Given the description of an element on the screen output the (x, y) to click on. 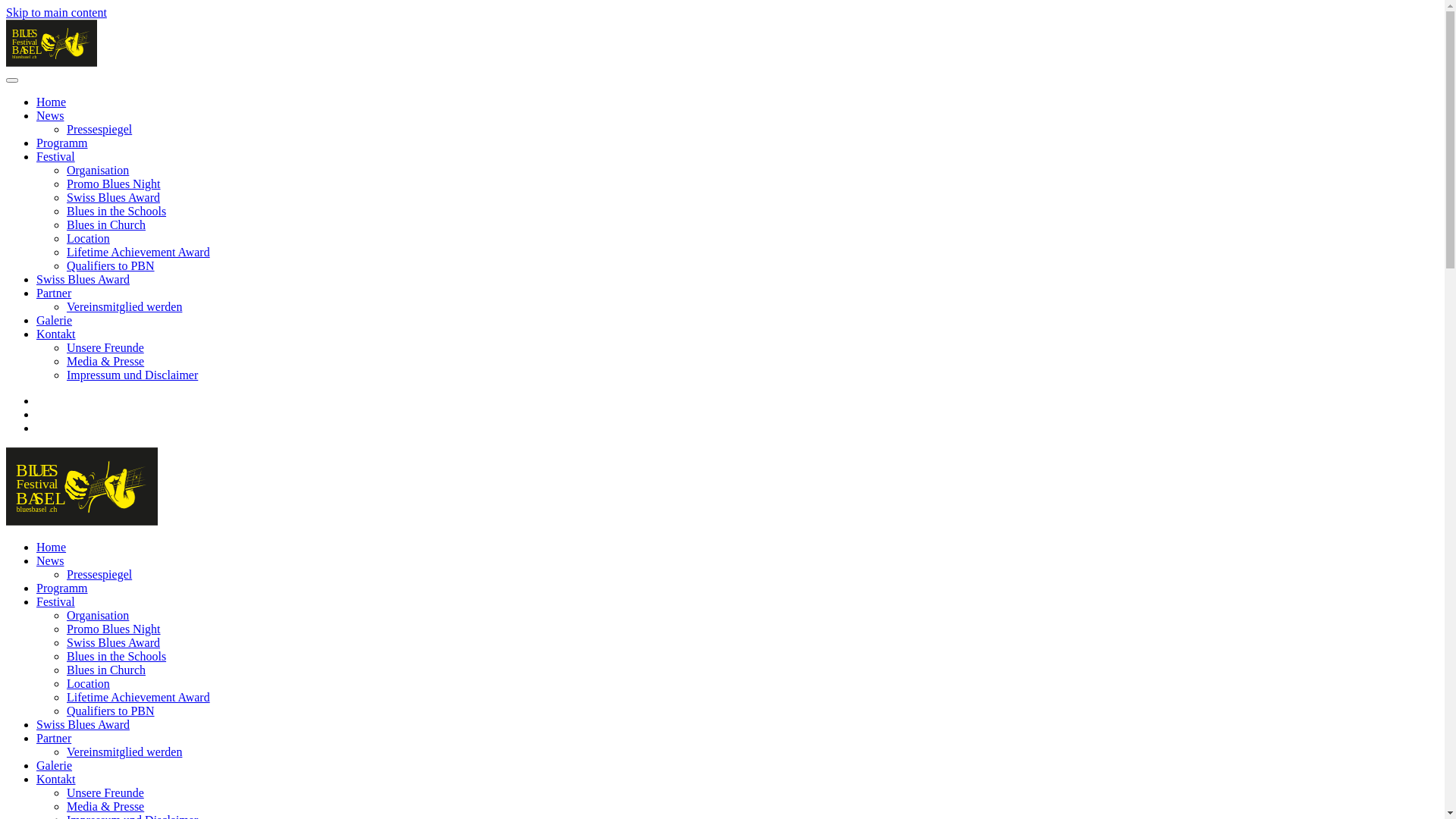
Media & Presse Element type: text (105, 360)
Lifetime Achievement Award Element type: text (138, 696)
Partner Element type: text (53, 737)
Organisation Element type: text (97, 614)
Home Element type: text (50, 546)
News Element type: text (49, 115)
Blues in the Schools Element type: text (116, 655)
Impressum und Disclaimer Element type: text (131, 374)
Home Element type: text (50, 101)
Qualifiers to PBN Element type: text (110, 265)
Organisation Element type: text (97, 169)
Swiss Blues Award Element type: text (113, 642)
Galerie Element type: text (54, 319)
Festival Element type: text (55, 601)
Location Element type: text (87, 238)
Galerie Element type: text (54, 765)
News Element type: text (49, 560)
Promo Blues Night Element type: text (113, 183)
Promo Blues Night Element type: text (113, 628)
Blues in Church Element type: text (105, 669)
Swiss Blues Award Element type: text (113, 197)
Programm Element type: text (61, 587)
Unsere Freunde Element type: text (105, 792)
Skip to main content Element type: text (56, 12)
Swiss Blues Award Element type: text (82, 724)
Programm Element type: text (61, 142)
Blues in Church Element type: text (105, 224)
Vereinsmitglied werden Element type: text (124, 751)
Partner Element type: text (53, 292)
Media & Presse Element type: text (105, 806)
Pressespiegel Element type: text (98, 128)
Qualifiers to PBN Element type: text (110, 710)
Swiss Blues Award Element type: text (82, 279)
Location Element type: text (87, 683)
Pressespiegel Element type: text (98, 573)
Lifetime Achievement Award Element type: text (138, 251)
Kontakt Element type: text (55, 778)
Vereinsmitglied werden Element type: text (124, 306)
Festival Element type: text (55, 156)
Kontakt Element type: text (55, 333)
Blues in the Schools Element type: text (116, 210)
Unsere Freunde Element type: text (105, 347)
